Given the description of an element on the screen output the (x, y) to click on. 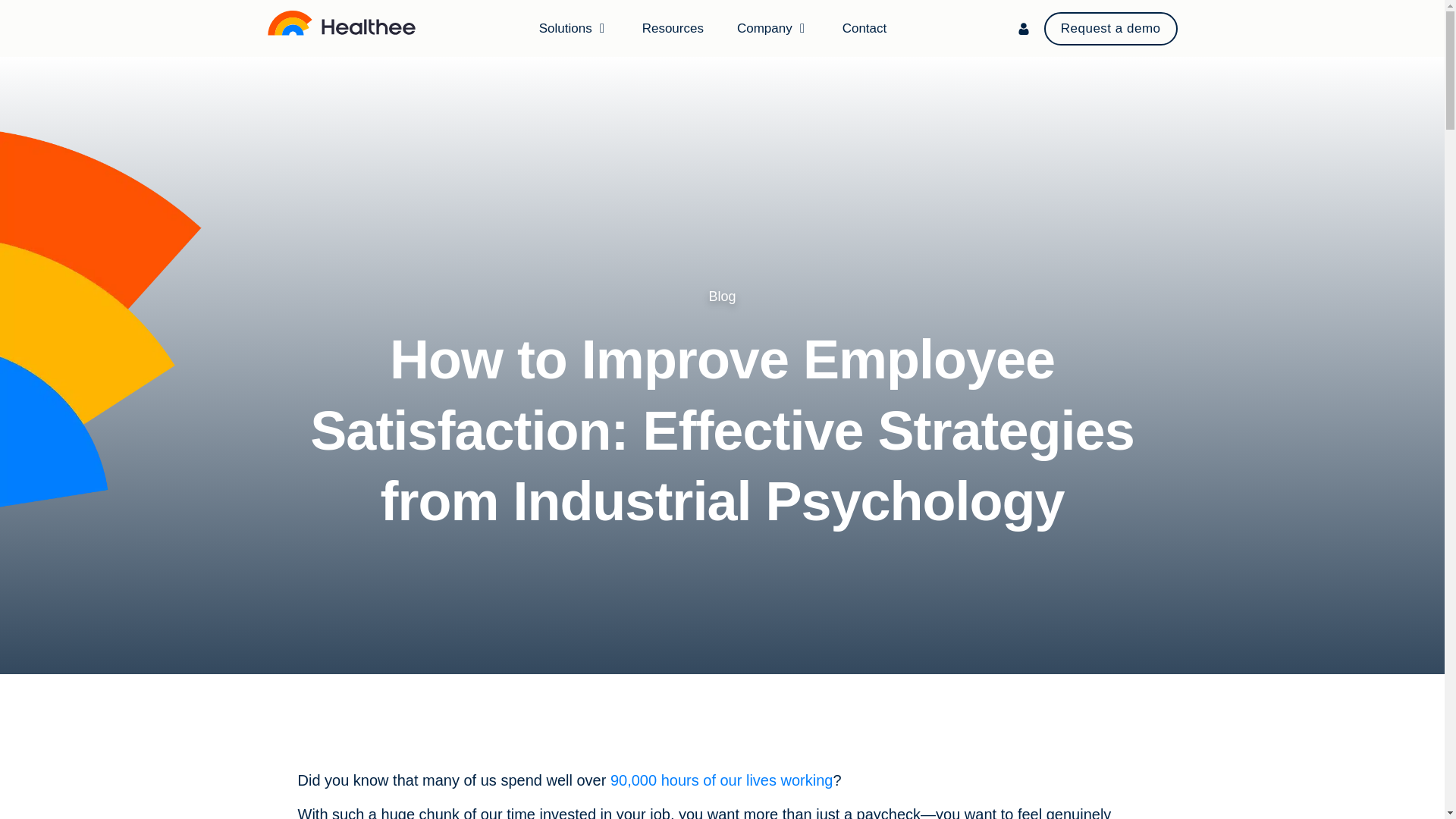
Blog (721, 296)
Contact (864, 28)
Request a demo (1110, 28)
Resources (672, 28)
90,000 hours of our lives working (721, 780)
